Given the description of an element on the screen output the (x, y) to click on. 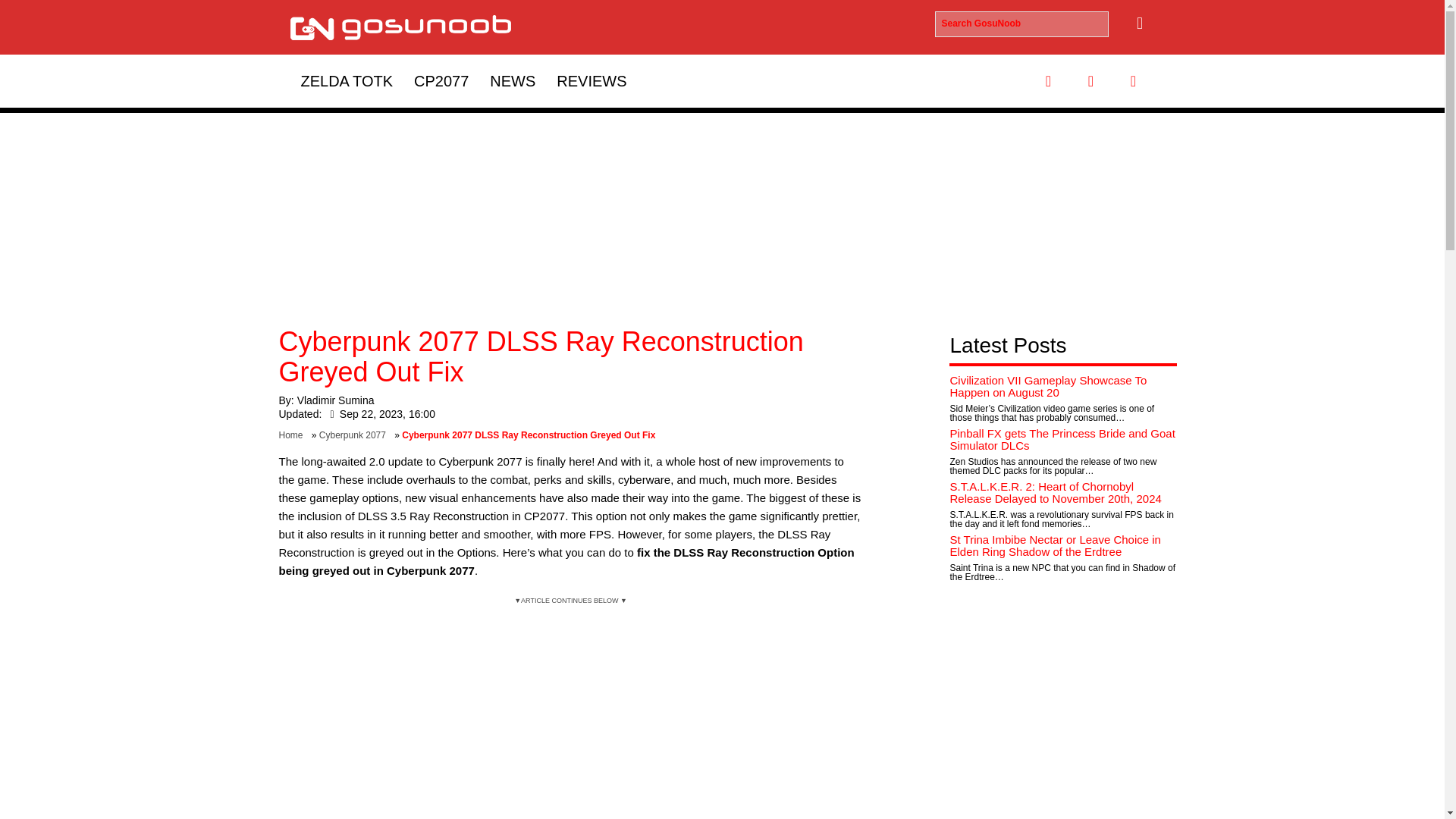
Civilization VII Gameplay Showcase To Happen on August 20 (1048, 386)
Civilization VII Gameplay Showcase To Happen on August 20 (1048, 386)
Vladimir Sumina (335, 399)
Pinball FX gets The Princess Bride and Goat Simulator DLCs (1061, 439)
Cyberpunk 2077 (441, 80)
Cyberpunk 2077 (354, 434)
CP2077 (441, 80)
